Given the description of an element on the screen output the (x, y) to click on. 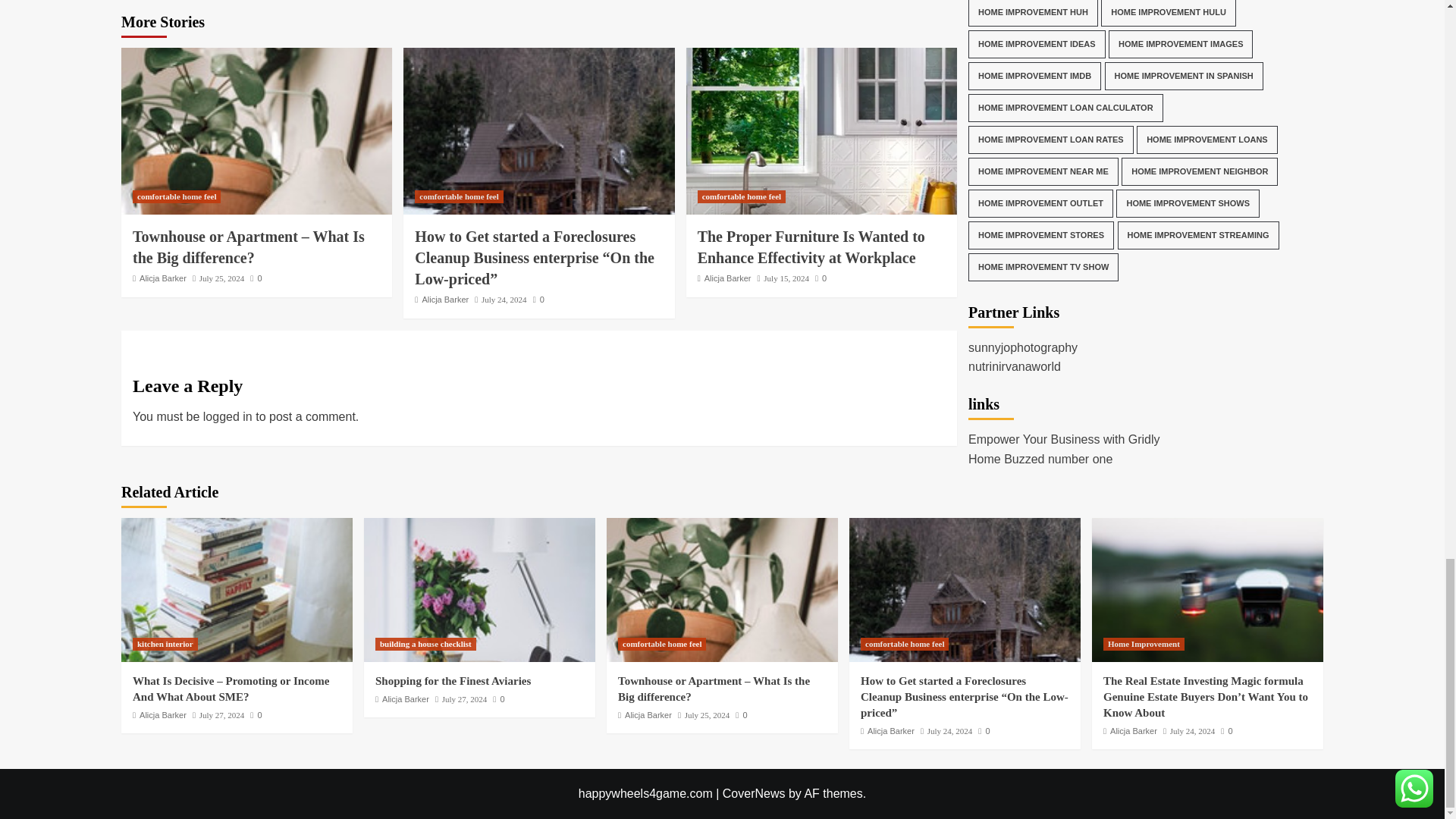
comfortable home feel (176, 196)
Alicja Barker (162, 277)
July 24, 2024 (504, 298)
0 (256, 277)
July 25, 2024 (221, 277)
0 (538, 298)
Alicja Barker (445, 298)
comfortable home feel (458, 196)
Shopping for the Finest Aviaries (479, 589)
